Given the description of an element on the screen output the (x, y) to click on. 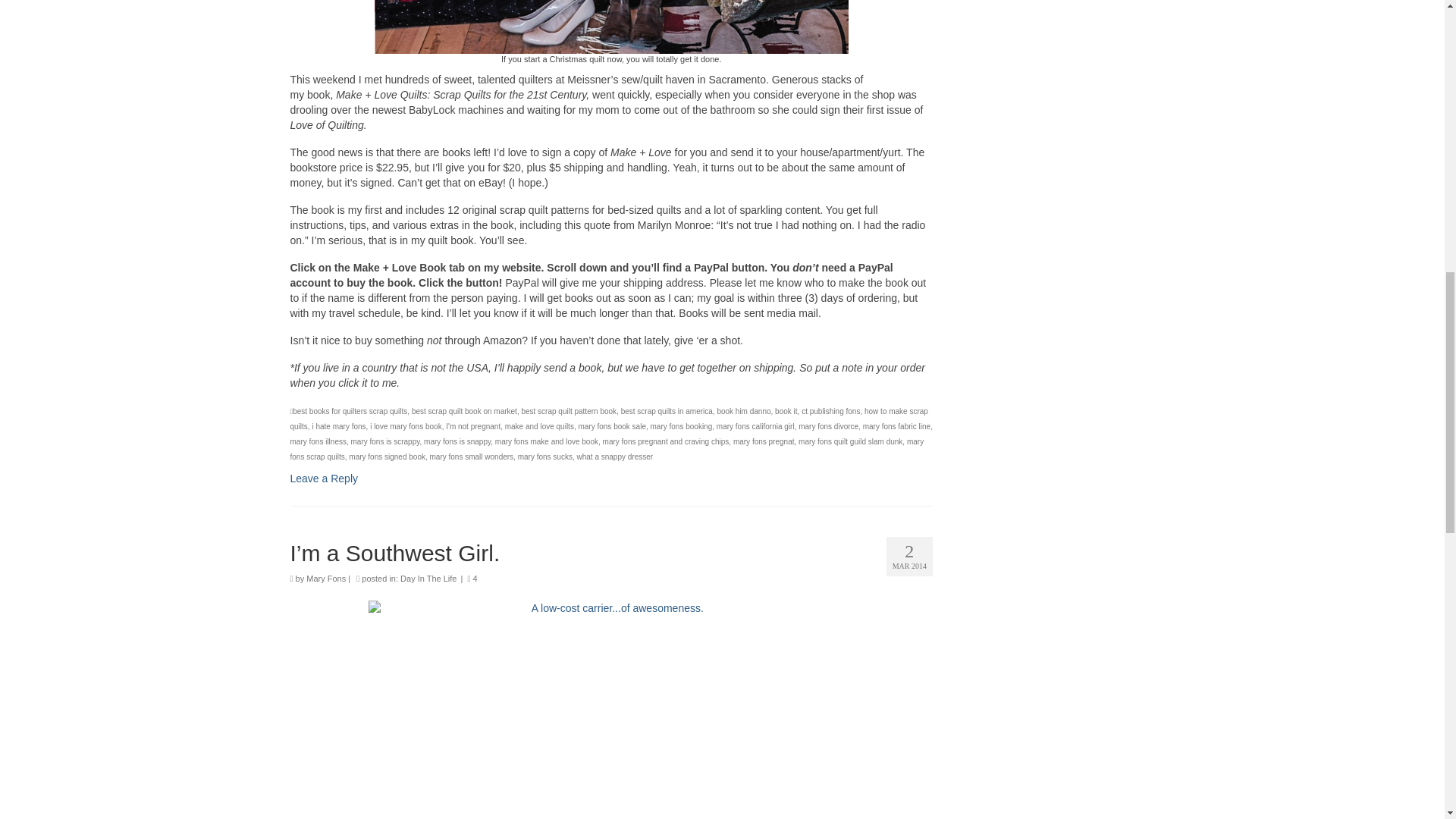
mary fons pregnant and craving chips (665, 441)
mary fons illness (317, 441)
I'm not pregnant (472, 426)
i love mary fons book (405, 426)
i hate mary fons (338, 426)
book it (785, 411)
best scrap quilt book on market (464, 411)
mary fons book sale (612, 426)
mary fons make and love book (546, 441)
best scrap quilt pattern book (568, 411)
